Given the description of an element on the screen output the (x, y) to click on. 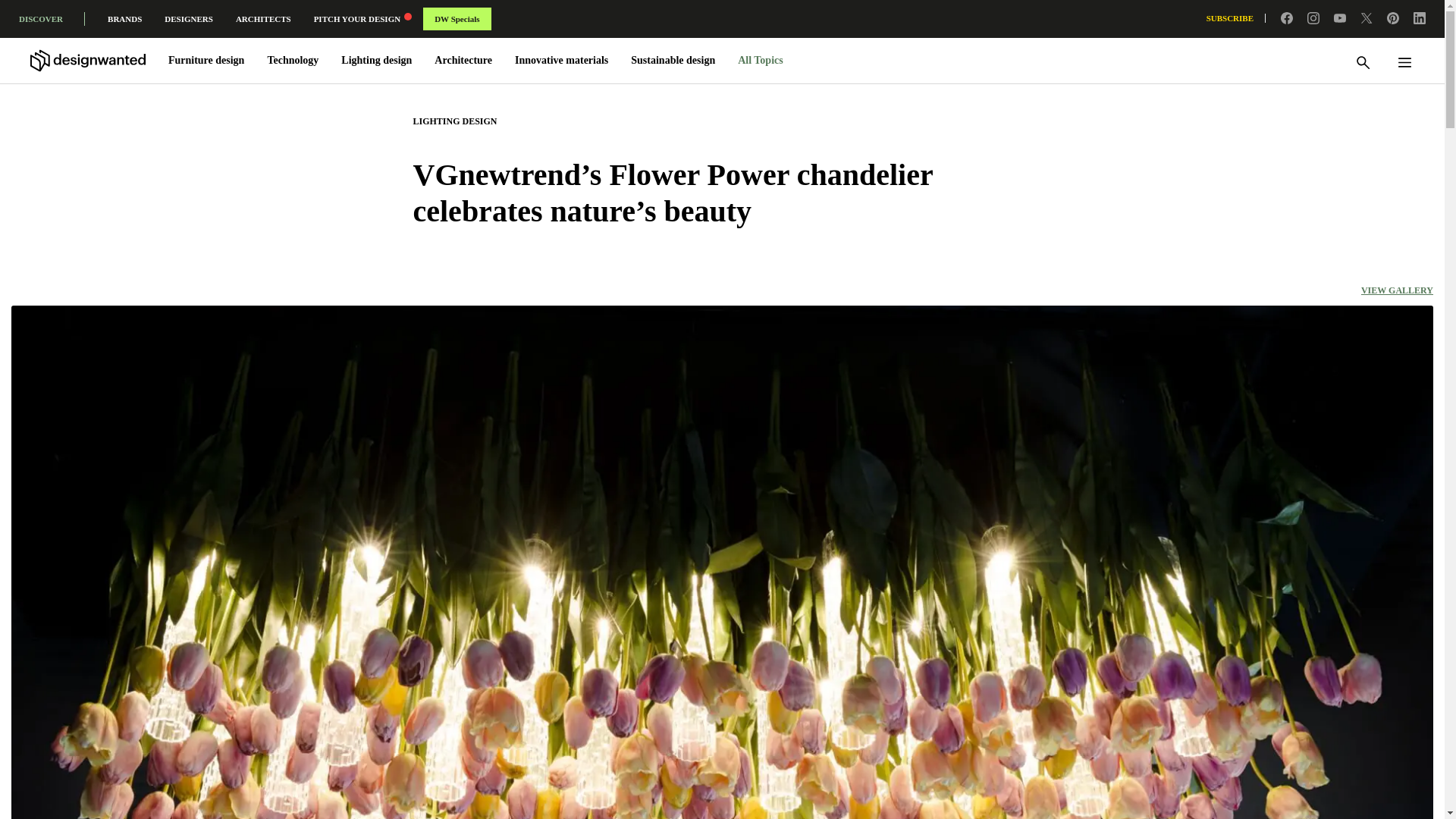
DW Specials (456, 18)
All Topics (760, 60)
BRANDS (124, 22)
ARCHITECTS (263, 22)
Architecture (463, 60)
Sustainable design (673, 60)
SUBSCRIBE (1236, 17)
Technology (293, 60)
Lighting design (376, 60)
Innovative materials (561, 60)
